Given the description of an element on the screen output the (x, y) to click on. 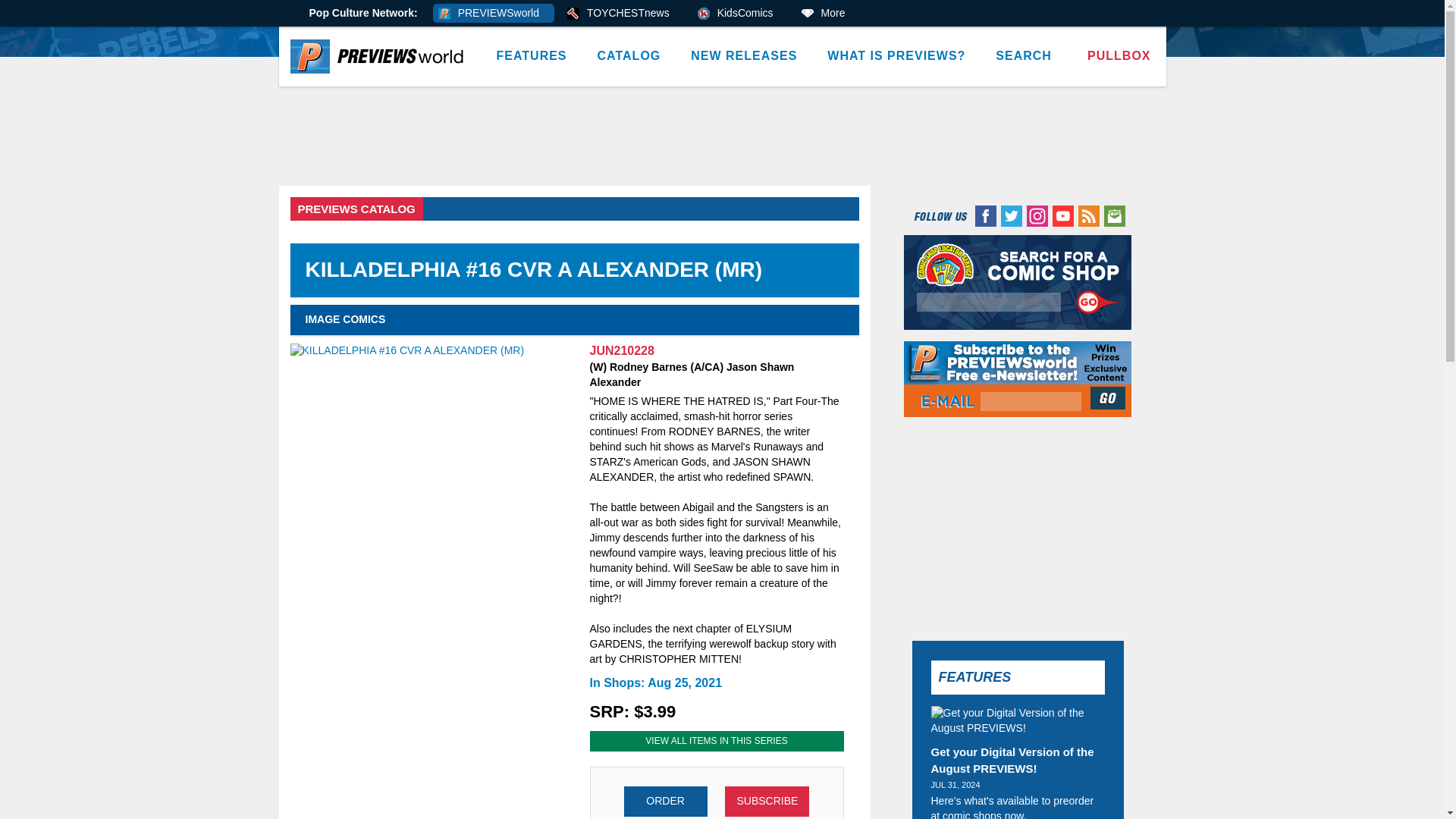
3rd party ad content (722, 136)
PREVIEWSworld (493, 13)
CATALOG (629, 55)
KidsComics (741, 13)
TOYCHESTnews (623, 13)
Join Our NewsLetter (1109, 397)
More (828, 13)
3rd party ad content (1017, 523)
Email Address Input for Newsletter Signup (1030, 401)
Enter ZIP or CAN Postal Code (989, 302)
